Given the description of an element on the screen output the (x, y) to click on. 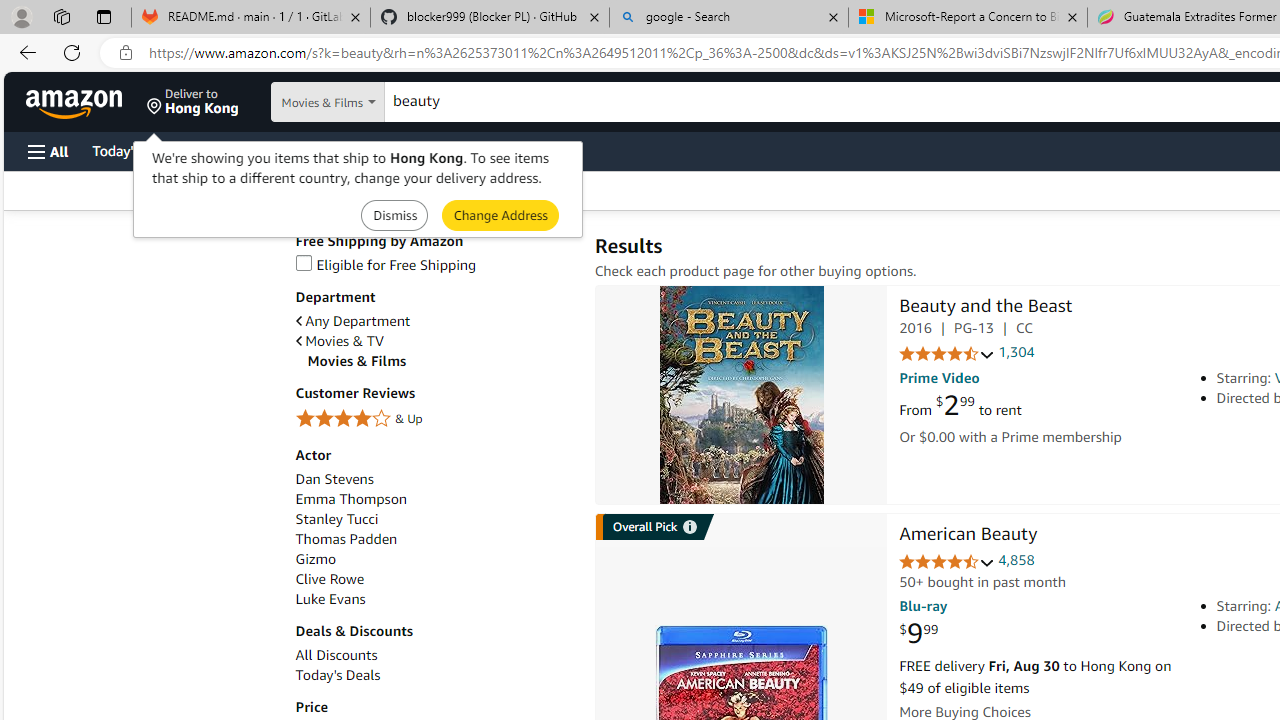
Movies & TV (434, 340)
Today's Deals (434, 675)
Dan Stevens (434, 479)
From $2.99 to rent (959, 406)
4.6 out of 5 stars (946, 562)
Movies & TV (339, 341)
Beauty and the Beast (741, 394)
Eligible for Free Shipping (385, 264)
Prime Video (939, 378)
Stanley Tucci (336, 519)
Clive Rowe (434, 579)
